Given the description of an element on the screen output the (x, y) to click on. 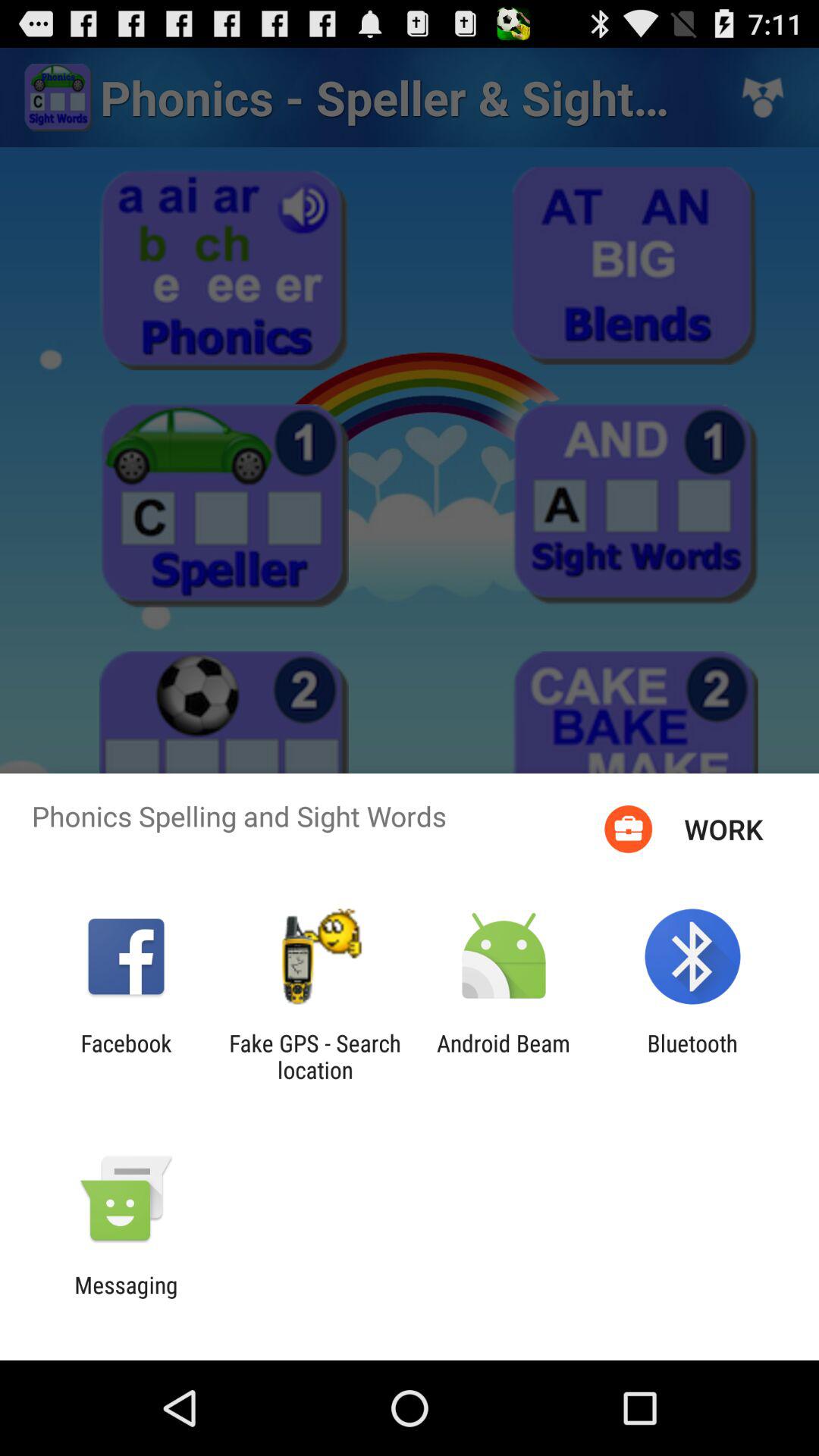
turn on item next to android beam icon (314, 1056)
